Given the description of an element on the screen output the (x, y) to click on. 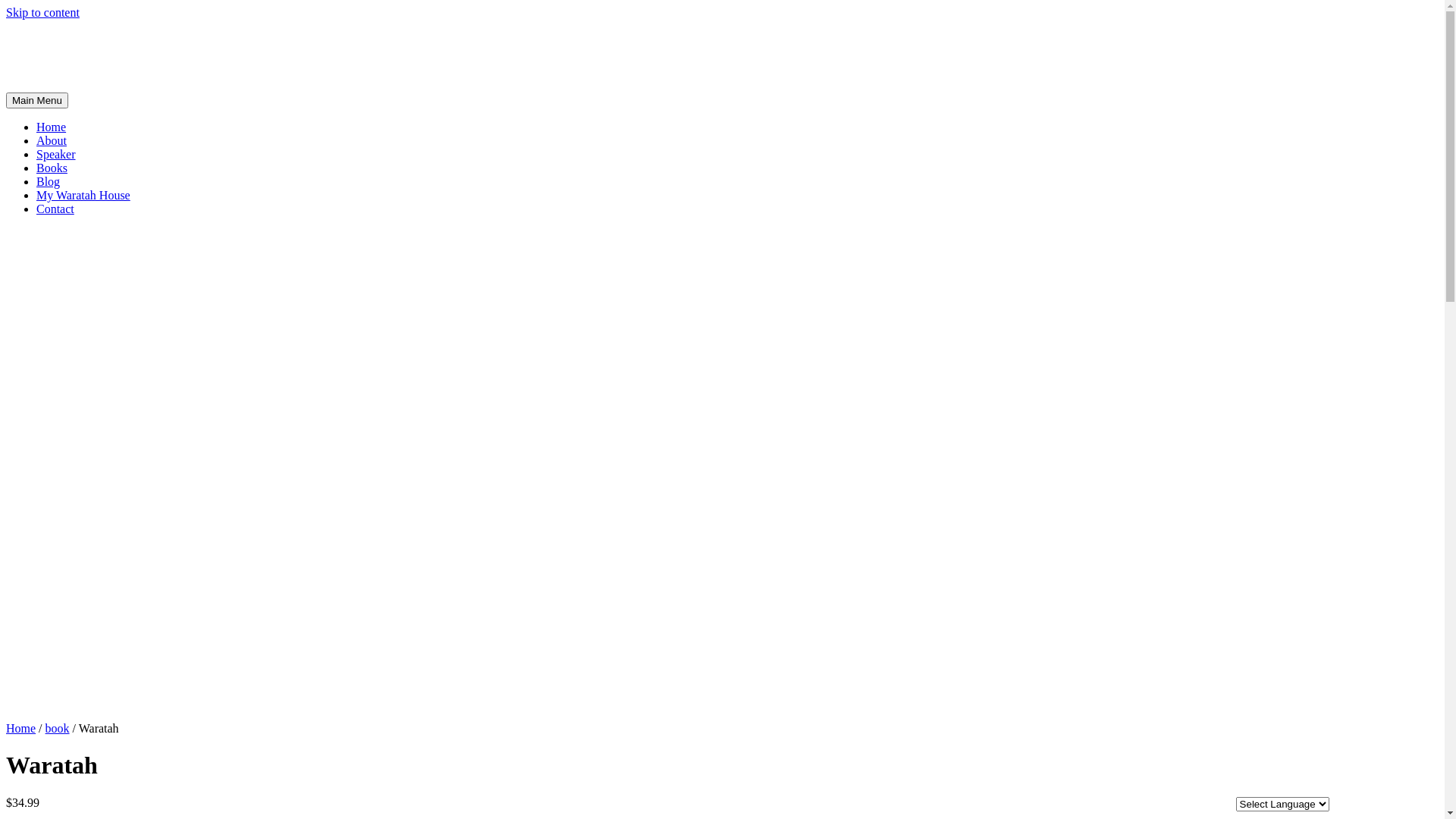
book Element type: text (57, 727)
Blog Element type: text (47, 181)
Speaker Element type: text (55, 153)
Home Element type: text (20, 727)
Home Element type: text (50, 126)
About Element type: text (51, 140)
Skip to content Element type: text (42, 12)
My Waratah House Element type: text (83, 194)
Main Menu Element type: text (37, 100)
Books Element type: text (51, 167)
Contact Element type: text (55, 208)
